Given the description of an element on the screen output the (x, y) to click on. 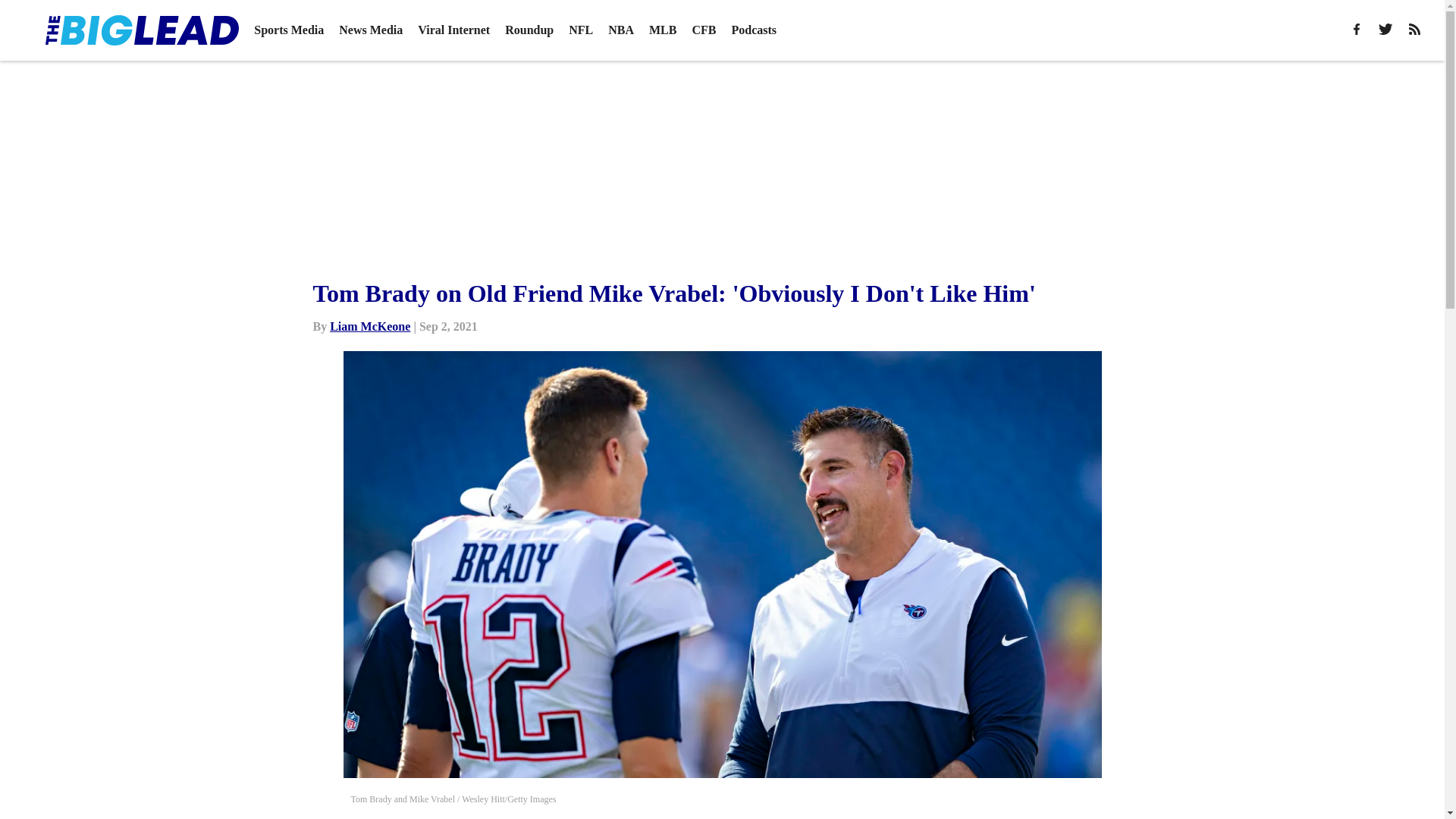
Sports Media (288, 30)
Liam McKeone (370, 326)
NBA (620, 30)
CFB (703, 30)
Roundup (529, 30)
Podcasts (753, 30)
NFL (580, 30)
MLB (663, 30)
News Media (371, 30)
